Given the description of an element on the screen output the (x, y) to click on. 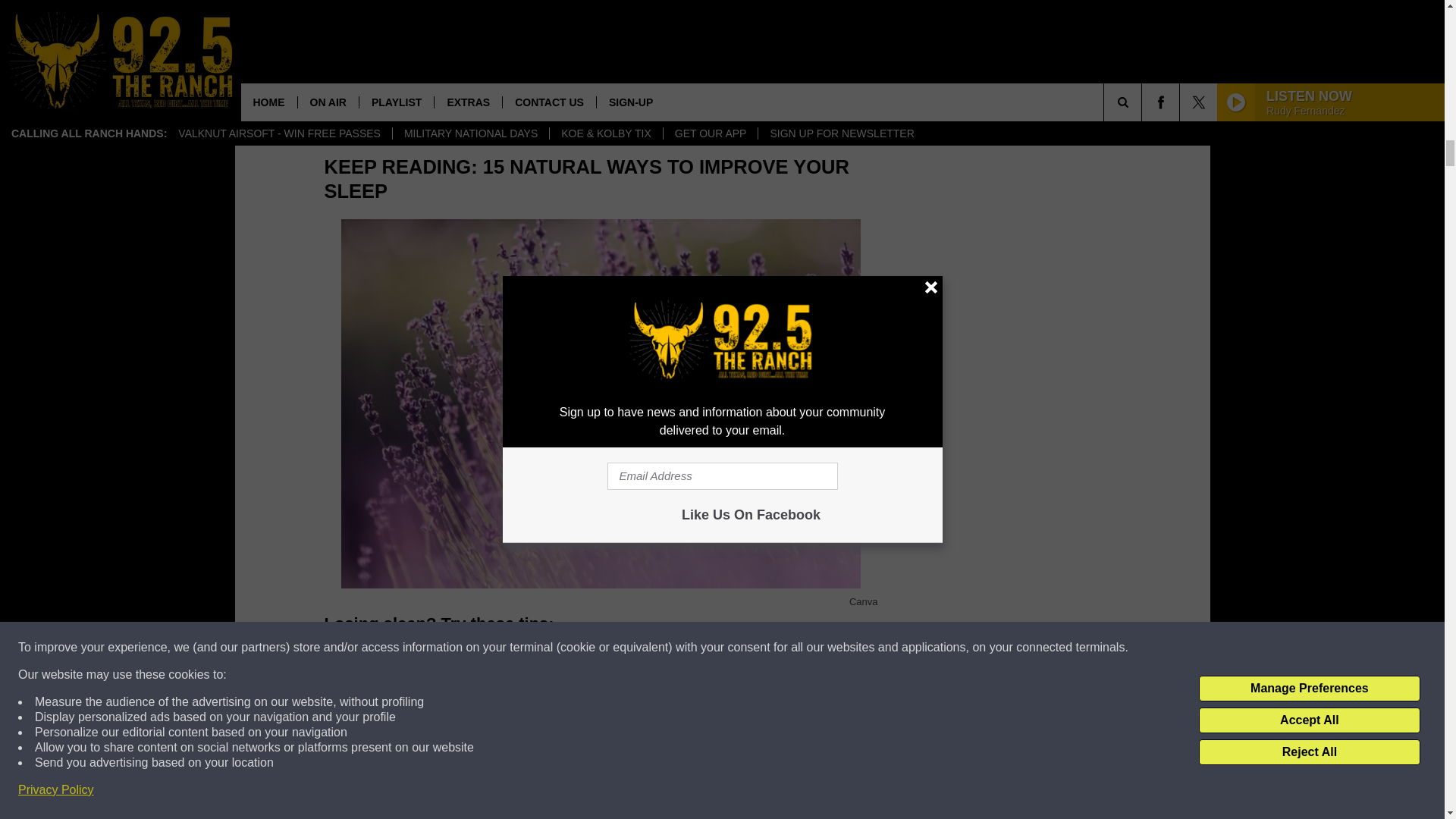
Email Address (600, 89)
